Given the description of an element on the screen output the (x, y) to click on. 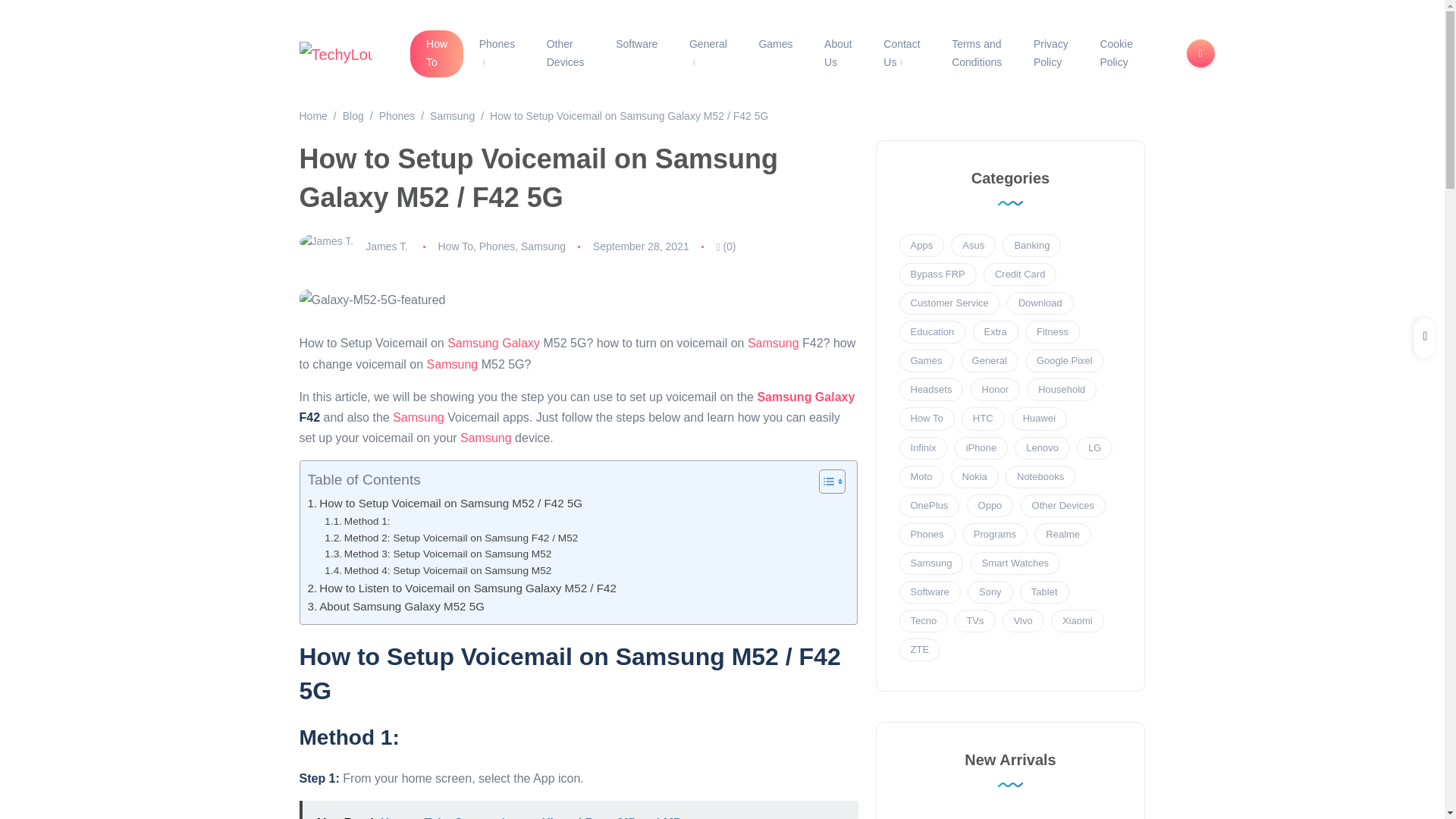
Privacy Policy (1050, 53)
Phones (497, 53)
Terms and Conditions (976, 53)
Other Devices (565, 53)
Method 3: Setup Voicemail on Samsung M52 (437, 554)
About Us (837, 53)
Games (775, 44)
Home (312, 115)
How To (436, 53)
Method 1: (357, 521)
Posts by James T. (386, 246)
Cookie Policy (1116, 53)
Go to Blog. (353, 115)
Method 4: Setup Voicemail on Samsung M52 (437, 570)
Go to the Samsung Category archives. (451, 115)
